Given the description of an element on the screen output the (x, y) to click on. 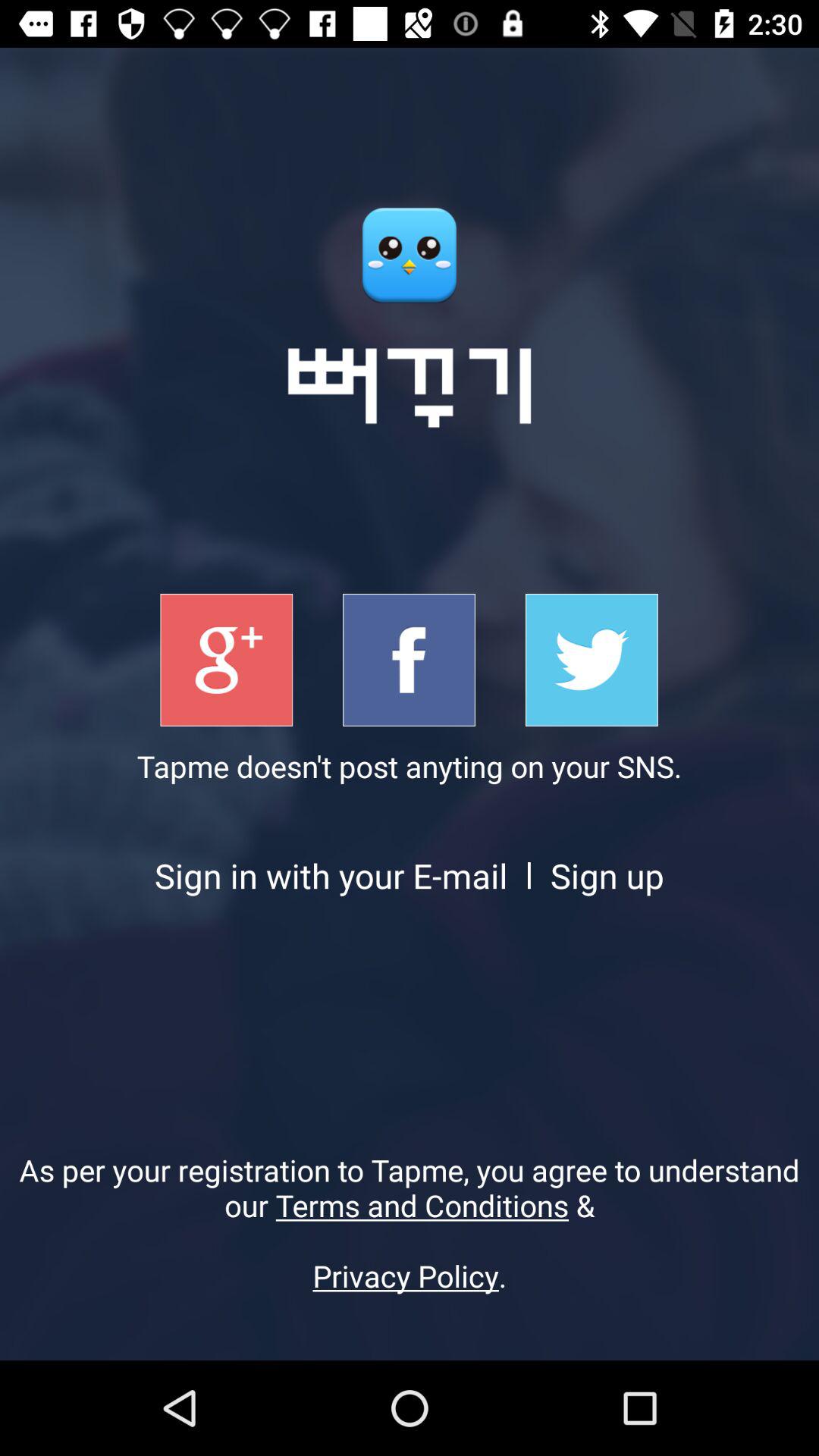
singup with google+ (226, 659)
